Given the description of an element on the screen output the (x, y) to click on. 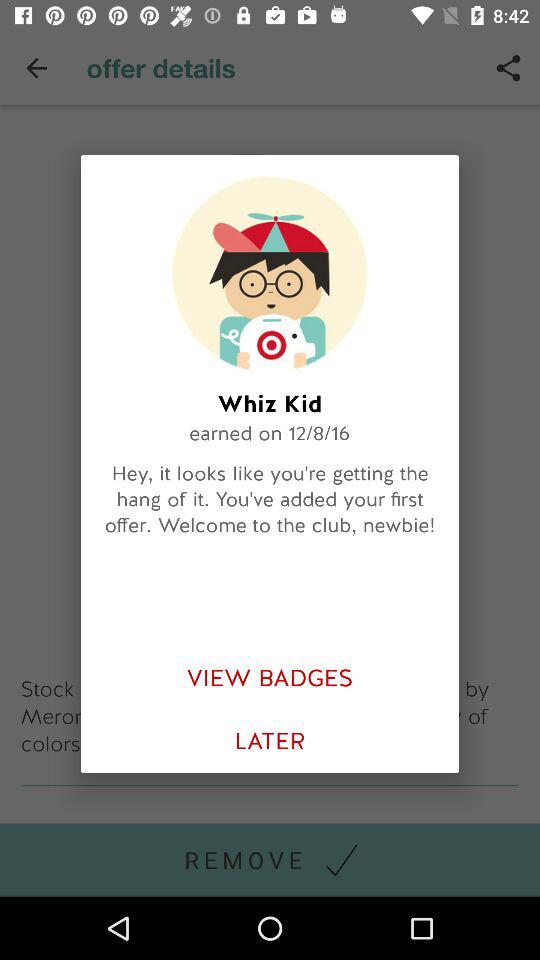
turn off icon above later icon (270, 678)
